Given the description of an element on the screen output the (x, y) to click on. 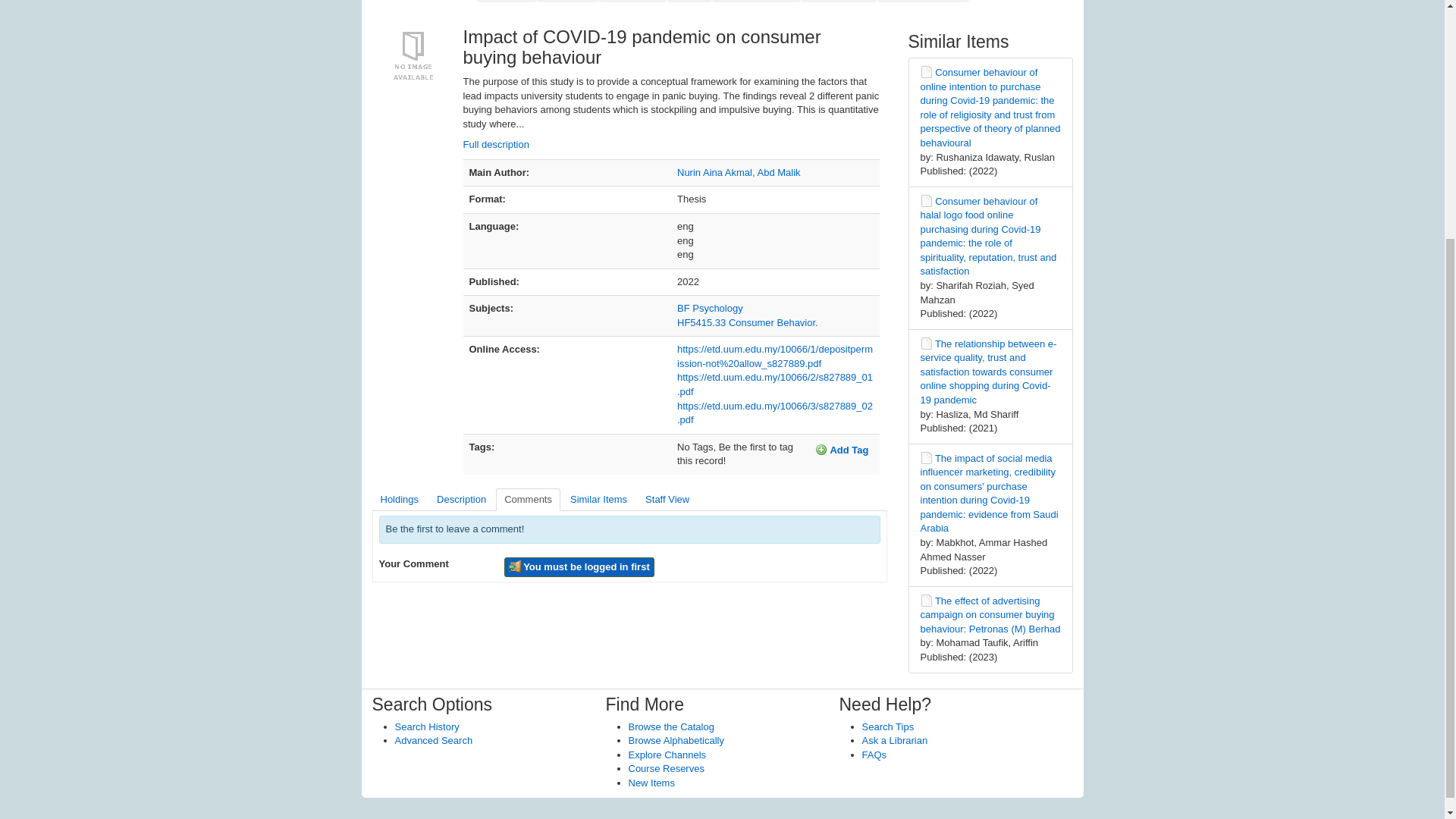
Permanent link (922, 1)
Add Tag (841, 450)
Export Record (755, 1)
Thesis (926, 71)
Cite this (506, 1)
Save to List (838, 1)
HF5415.33 Consumer Behavior. (747, 322)
Full description (495, 143)
HF5415.33 Consumer Behavior. (747, 322)
BF Psychology (709, 307)
Description (461, 499)
BF Psychology (709, 307)
Thesis (926, 200)
Staff View (667, 499)
